Given the description of an element on the screen output the (x, y) to click on. 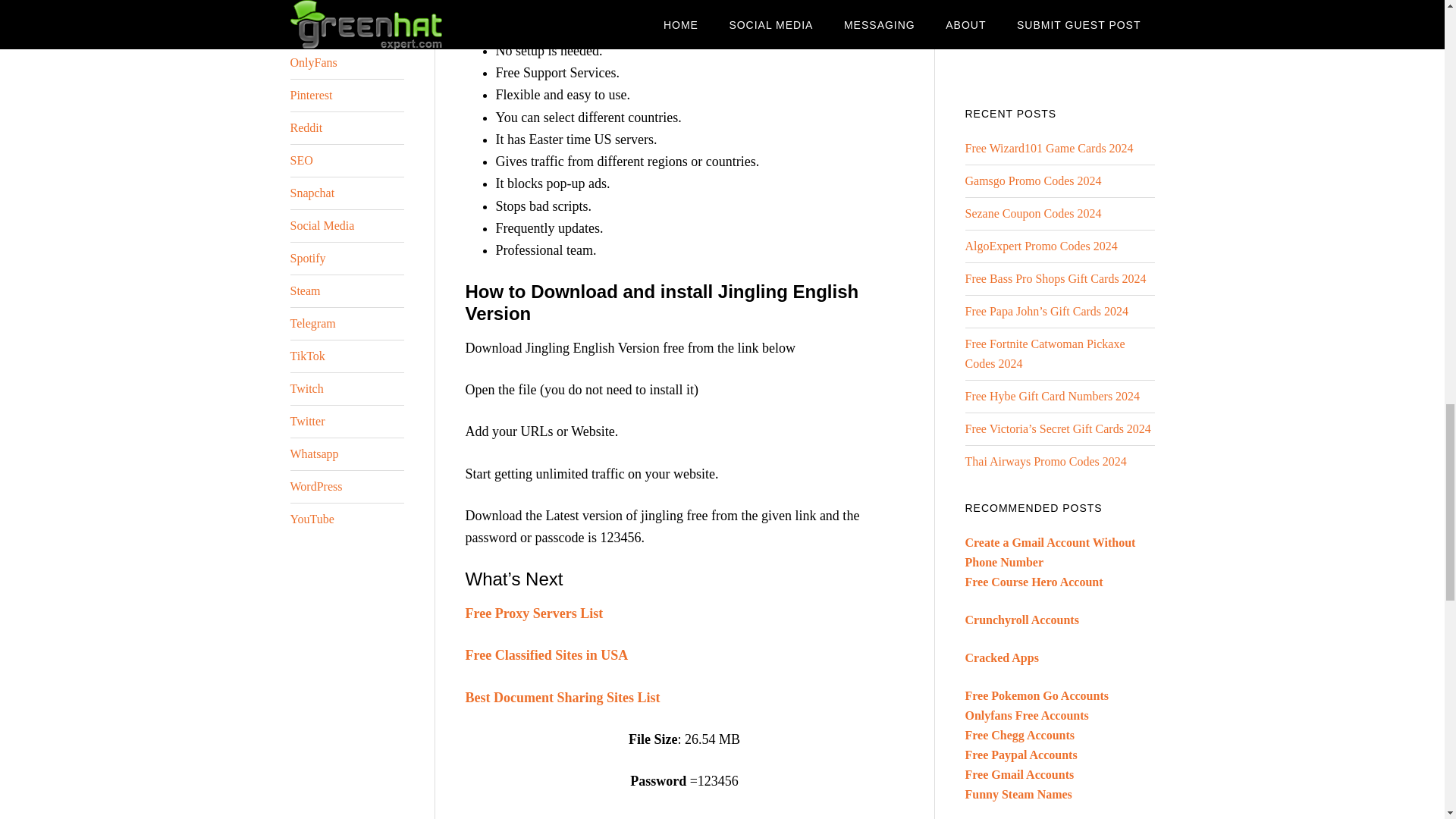
Best Document Sharing Sites List (563, 697)
Free Proxy Servers List (534, 613)
Free Classified Sites in USA (546, 654)
Advertisement (1058, 35)
